Given the description of an element on the screen output the (x, y) to click on. 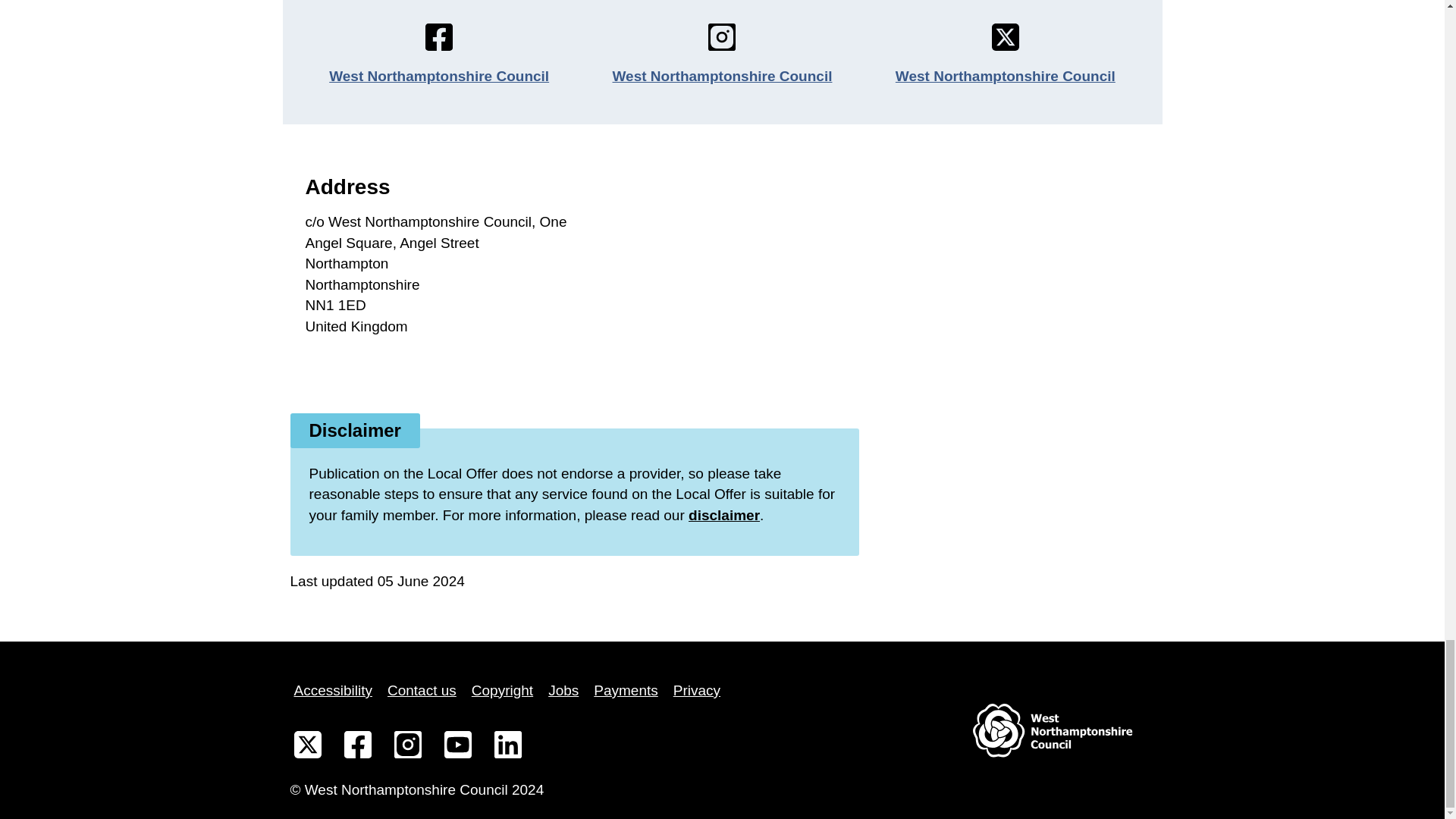
Jobs (563, 690)
Accessibility (332, 690)
West Northamptonshire Council (1005, 76)
Jobs (563, 690)
disclaimer (724, 514)
Copyright (502, 690)
Payments (625, 690)
Copyright (502, 690)
Payments (625, 690)
West Northamptonshire Council (722, 76)
